Given the description of an element on the screen output the (x, y) to click on. 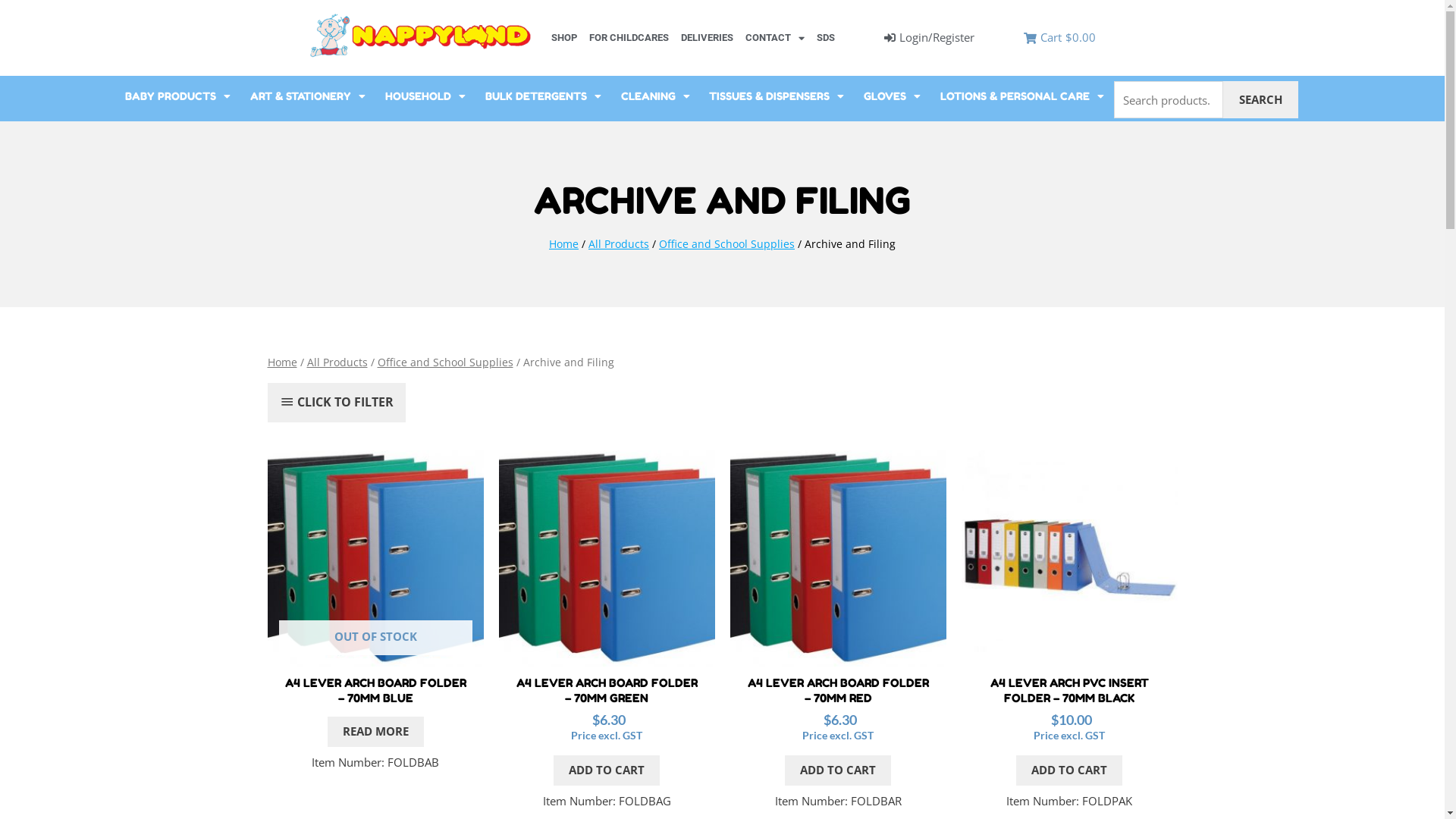
BULK DETERGENTS Element type: text (543, 95)
ADD TO CART Element type: text (606, 770)
BABY PRODUCTS Element type: text (177, 95)
Cart
$0.00 Element type: text (1059, 37)
CONTACT Element type: text (774, 37)
SDS Element type: text (825, 37)
Login/Register Element type: text (929, 37)
SHOP Element type: text (564, 37)
Home Element type: text (281, 361)
HOUSEHOLD Element type: text (425, 95)
OUT OF STOCK Element type: text (374, 558)
Office and School Supplies Element type: text (445, 361)
All Products Element type: text (336, 361)
Home Element type: text (563, 243)
Office and School Supplies Element type: text (726, 243)
ART & STATIONERY Element type: text (307, 95)
ADD TO CART Element type: text (1069, 770)
FOR CHILDCARES Element type: text (628, 37)
SEARCH Element type: text (1260, 100)
DELIVERIES Element type: text (706, 37)
CLICK TO FILTER Element type: text (335, 402)
All Products Element type: text (618, 243)
ADD TO CART Element type: text (837, 770)
LOTIONS & PERSONAL CARE Element type: text (1021, 95)
READ MORE Element type: text (375, 731)
GLOVES Element type: text (891, 95)
TISSUES & DISPENSERS Element type: text (776, 95)
CLEANING Element type: text (655, 95)
